Given the description of an element on the screen output the (x, y) to click on. 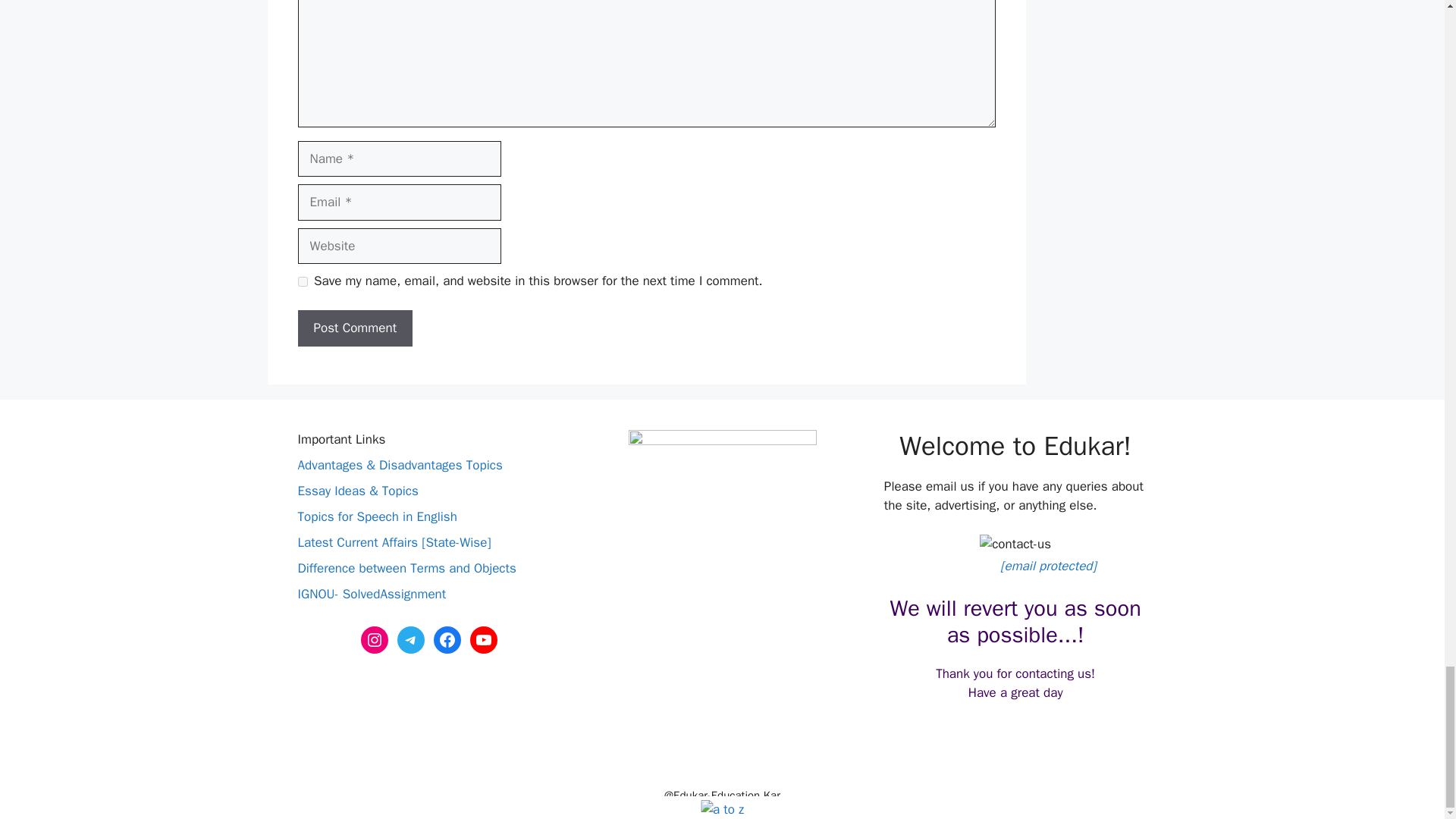
yes (302, 281)
Post Comment (354, 328)
